Given the description of an element on the screen output the (x, y) to click on. 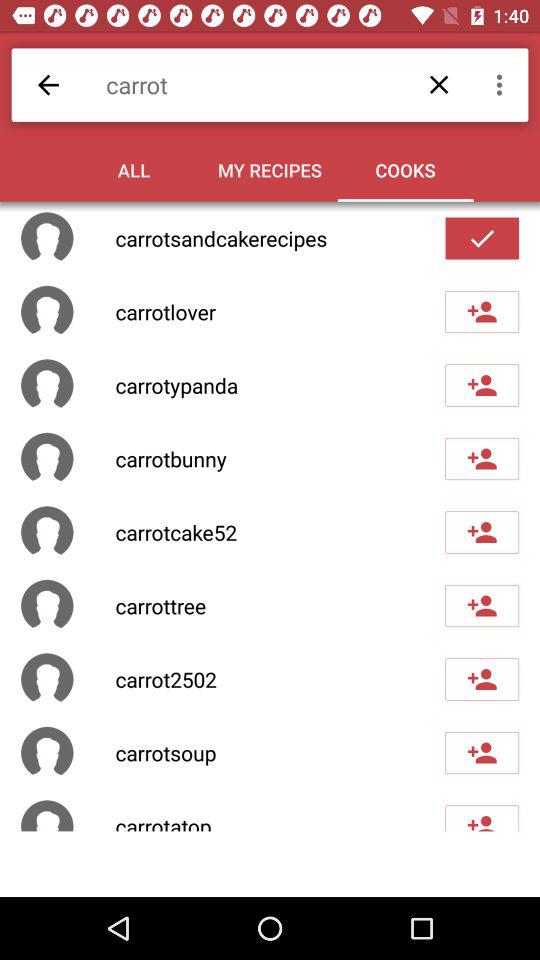
add recipe (482, 753)
